Given the description of an element on the screen output the (x, y) to click on. 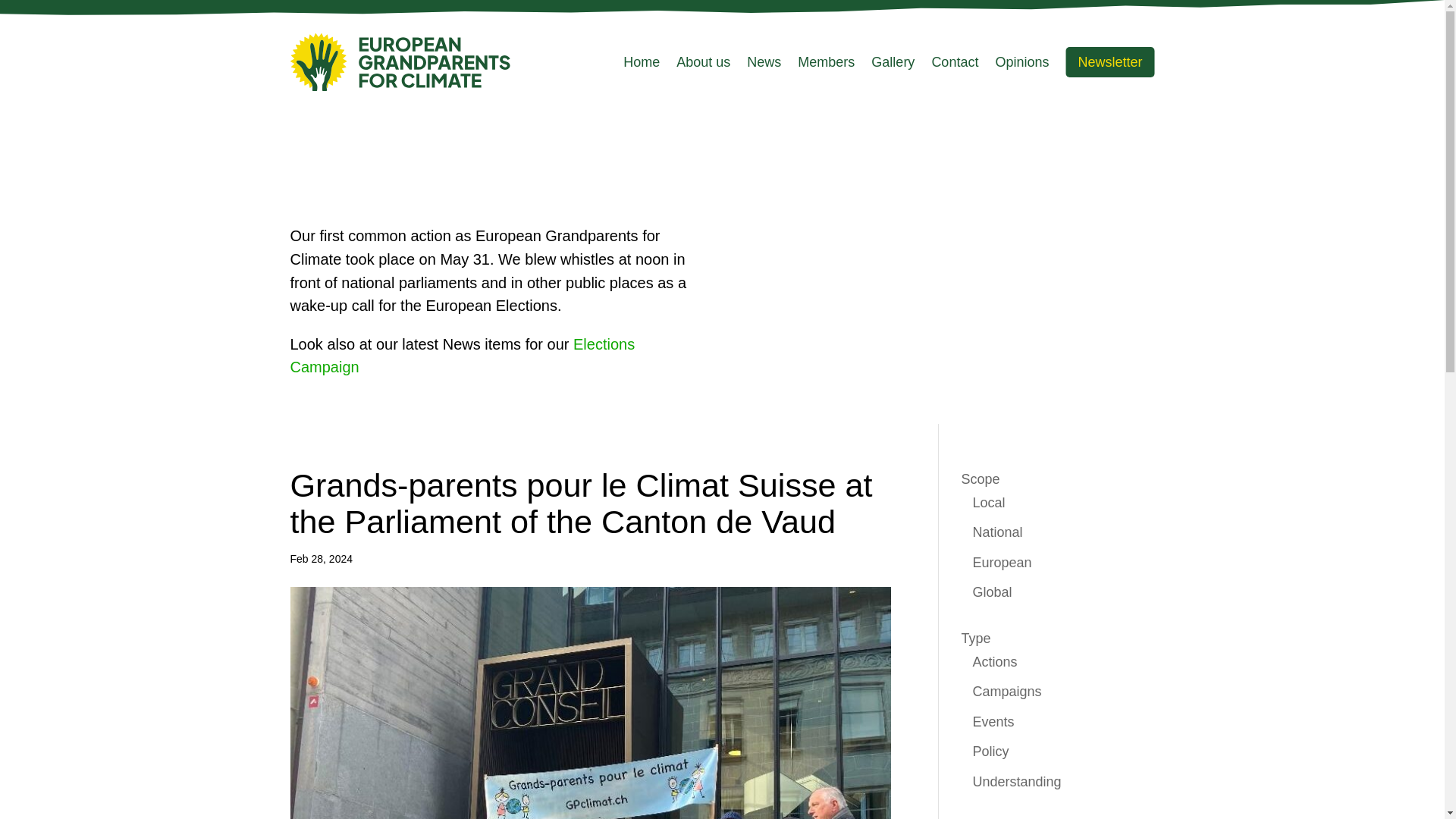
Global (991, 591)
Opinions (1021, 61)
Policy (990, 751)
Scope (980, 478)
Events (992, 721)
Local (988, 502)
Wake up! (949, 248)
National (997, 531)
Type (975, 638)
Actions (994, 661)
Elections Campaign (461, 355)
Understanding (1016, 781)
European (1001, 562)
Members (825, 61)
Campaigns (1006, 691)
